Given the description of an element on the screen output the (x, y) to click on. 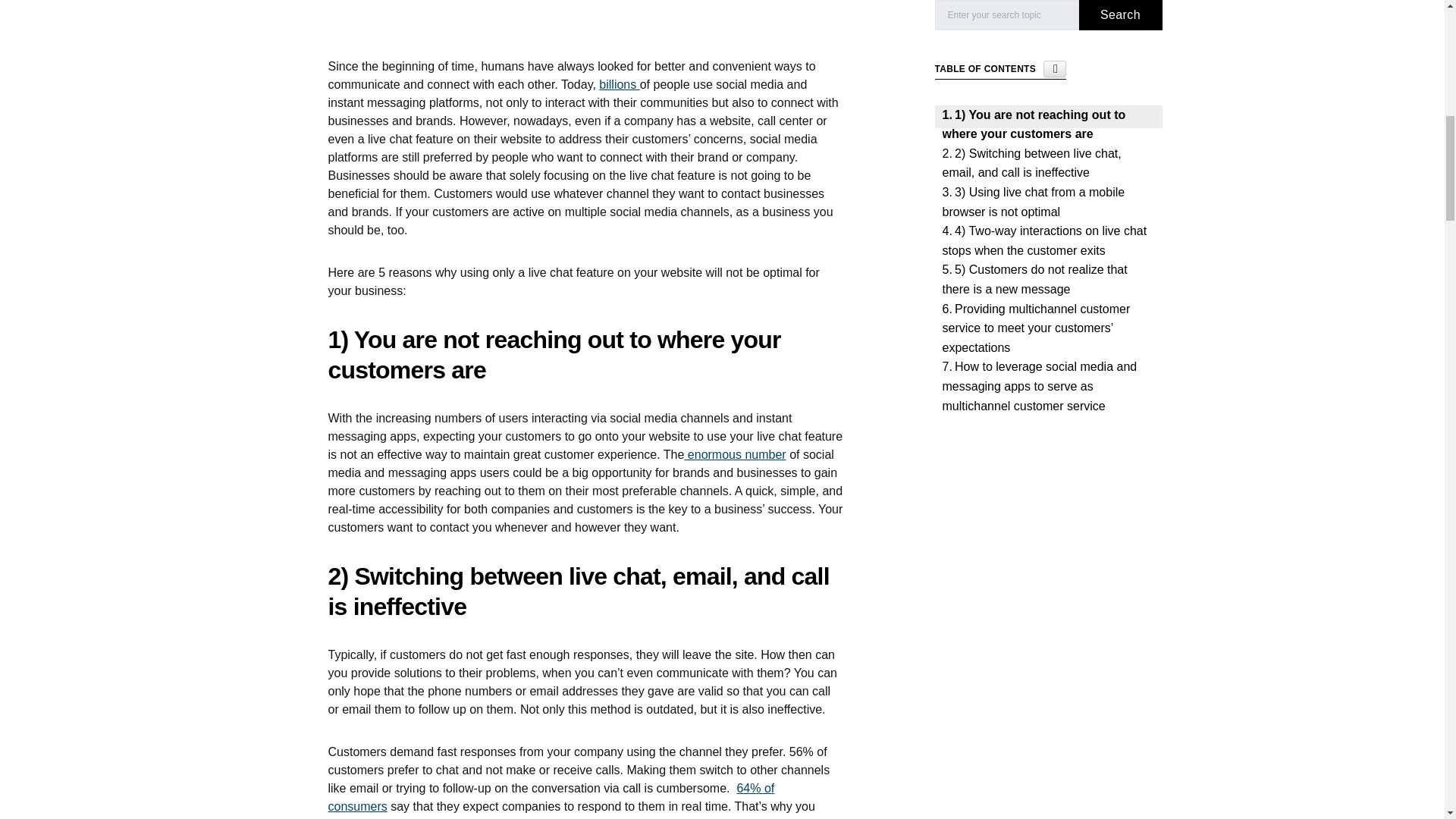
billions (618, 83)
enormous number (735, 454)
